Given the description of an element on the screen output the (x, y) to click on. 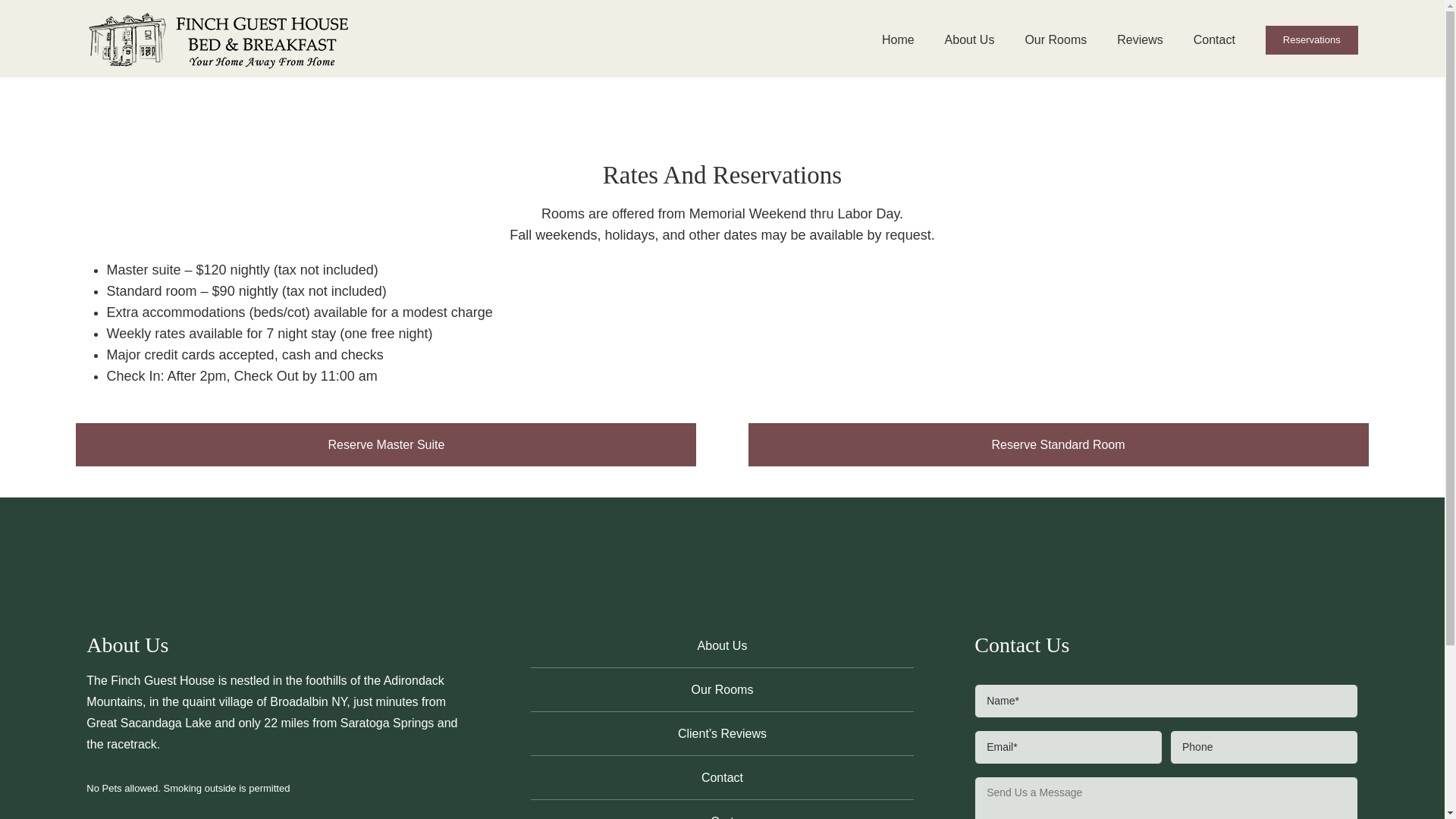
Cart (722, 809)
Reserve Master Suite (385, 444)
Reservations (1311, 38)
top-ornamental (721, 133)
Contact (722, 777)
About Us (722, 645)
Reserve Standard Room (1058, 444)
Our Rooms (722, 689)
